Given the description of an element on the screen output the (x, y) to click on. 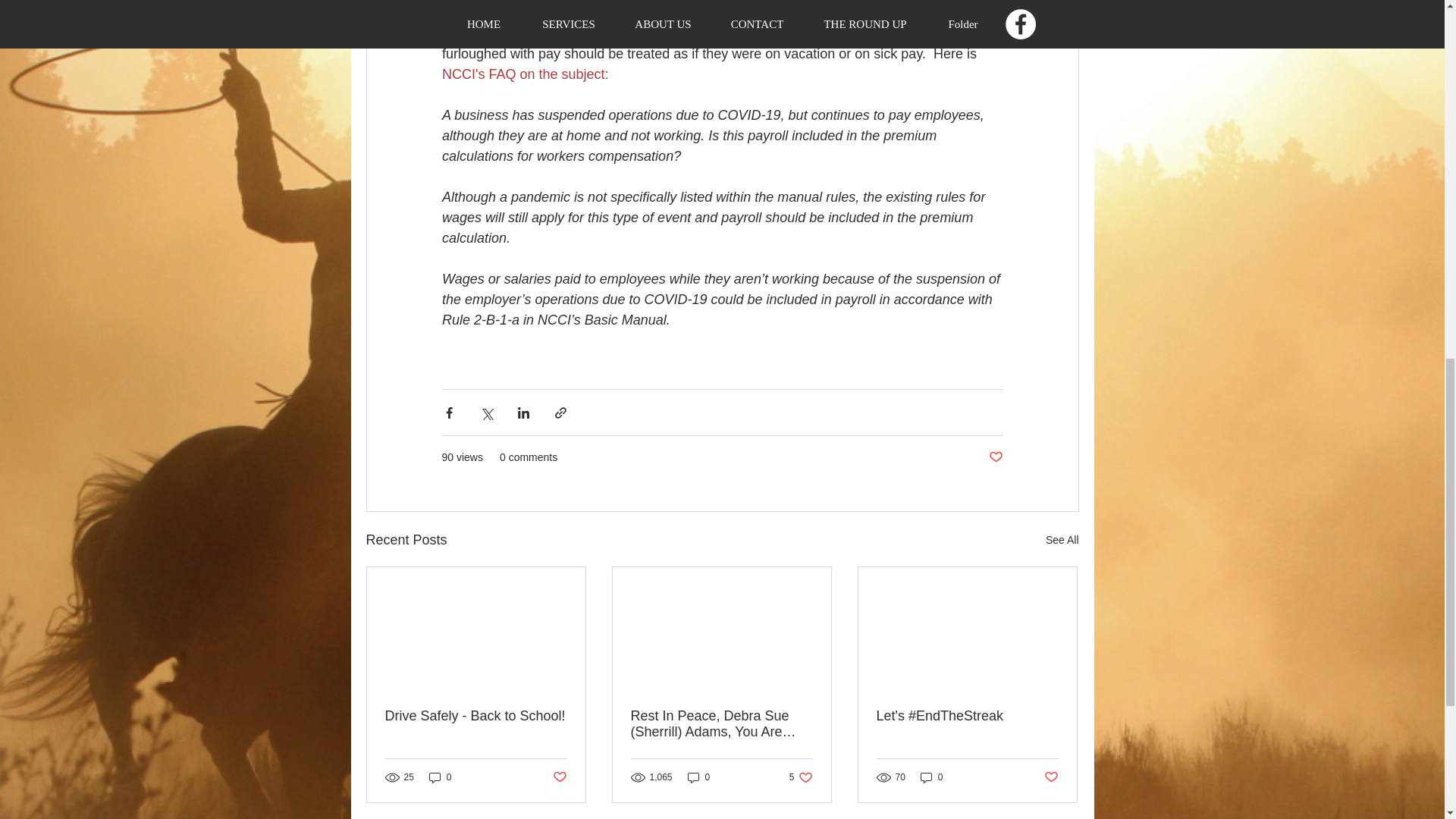
See All (1061, 540)
NCCI's FAQ on the subject: (524, 73)
Drive Safely - Back to School! (476, 715)
0 (800, 777)
0 (698, 777)
Post not marked as liked (931, 777)
0 (995, 457)
Post not marked as liked (440, 777)
Post not marked as liked (1050, 777)
